Given the description of an element on the screen output the (x, y) to click on. 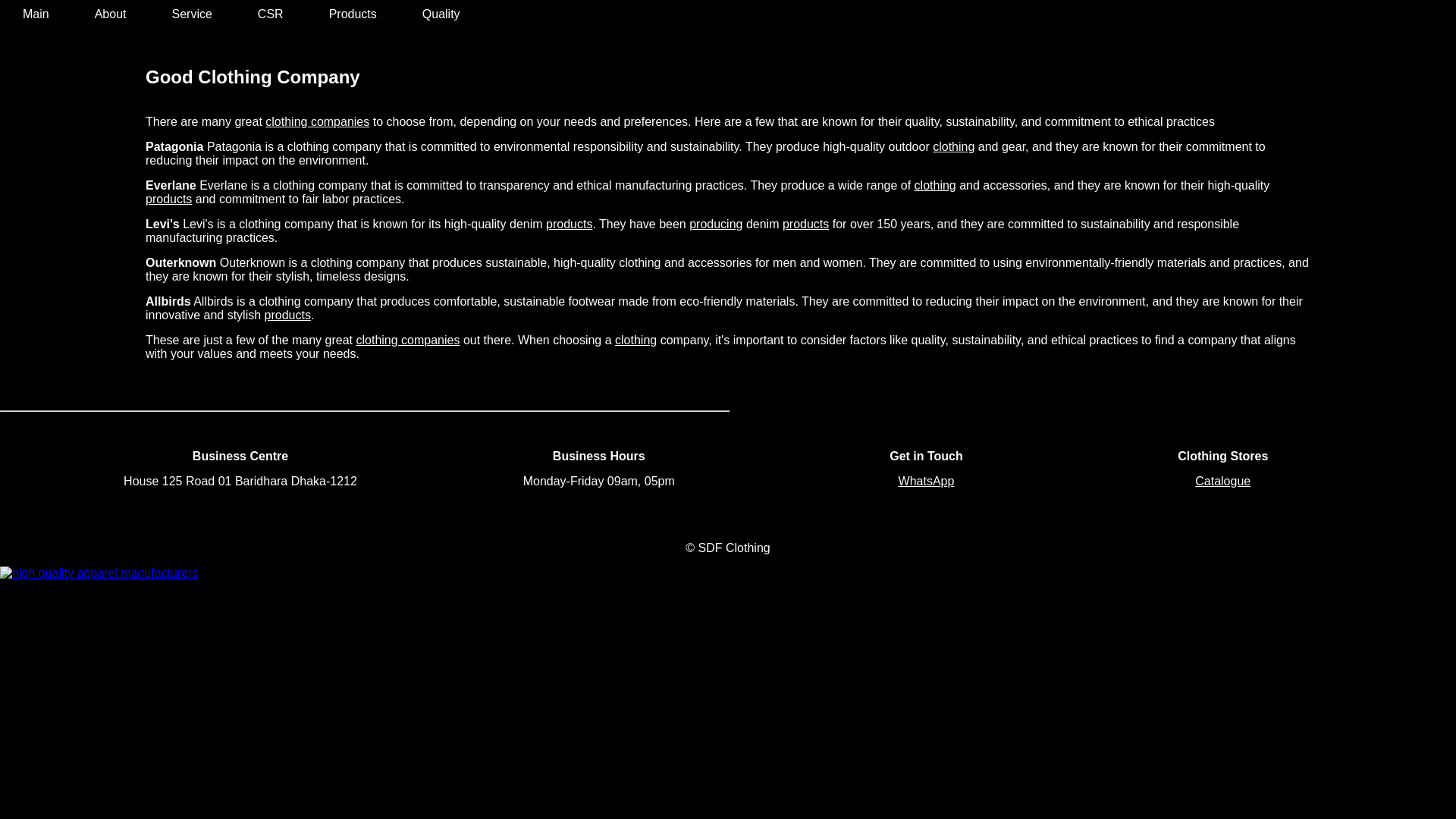
clothing (935, 185)
products (168, 198)
products (287, 314)
About (110, 14)
clothing (935, 185)
products (569, 223)
how to find a apparel suppliers (926, 481)
best custom clothing manufacturers (36, 14)
product management (1222, 481)
Service (191, 14)
clothing companies (407, 339)
apparel manufacturing (441, 14)
products (805, 223)
Quality (441, 14)
products (805, 223)
